Given the description of an element on the screen output the (x, y) to click on. 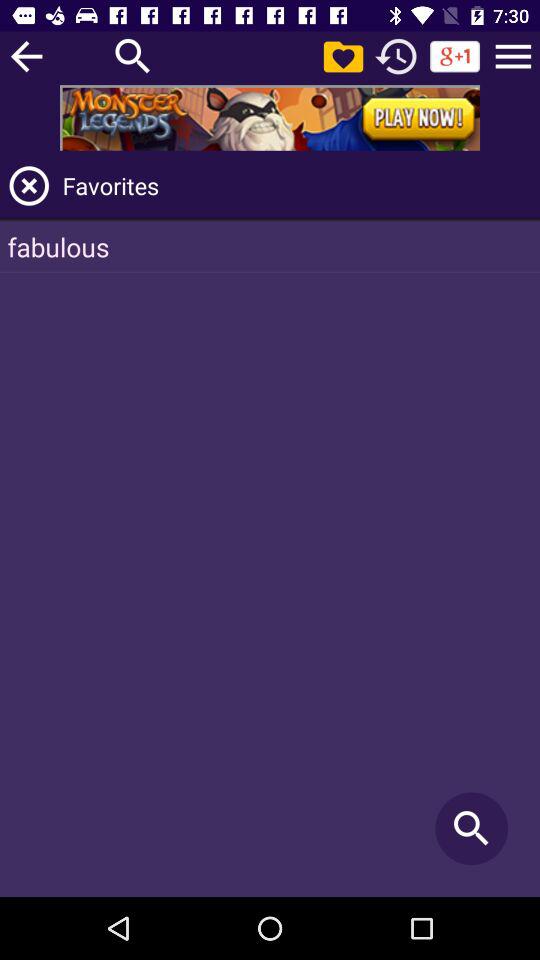
turn on favorites icon (298, 185)
